Given the description of an element on the screen output the (x, y) to click on. 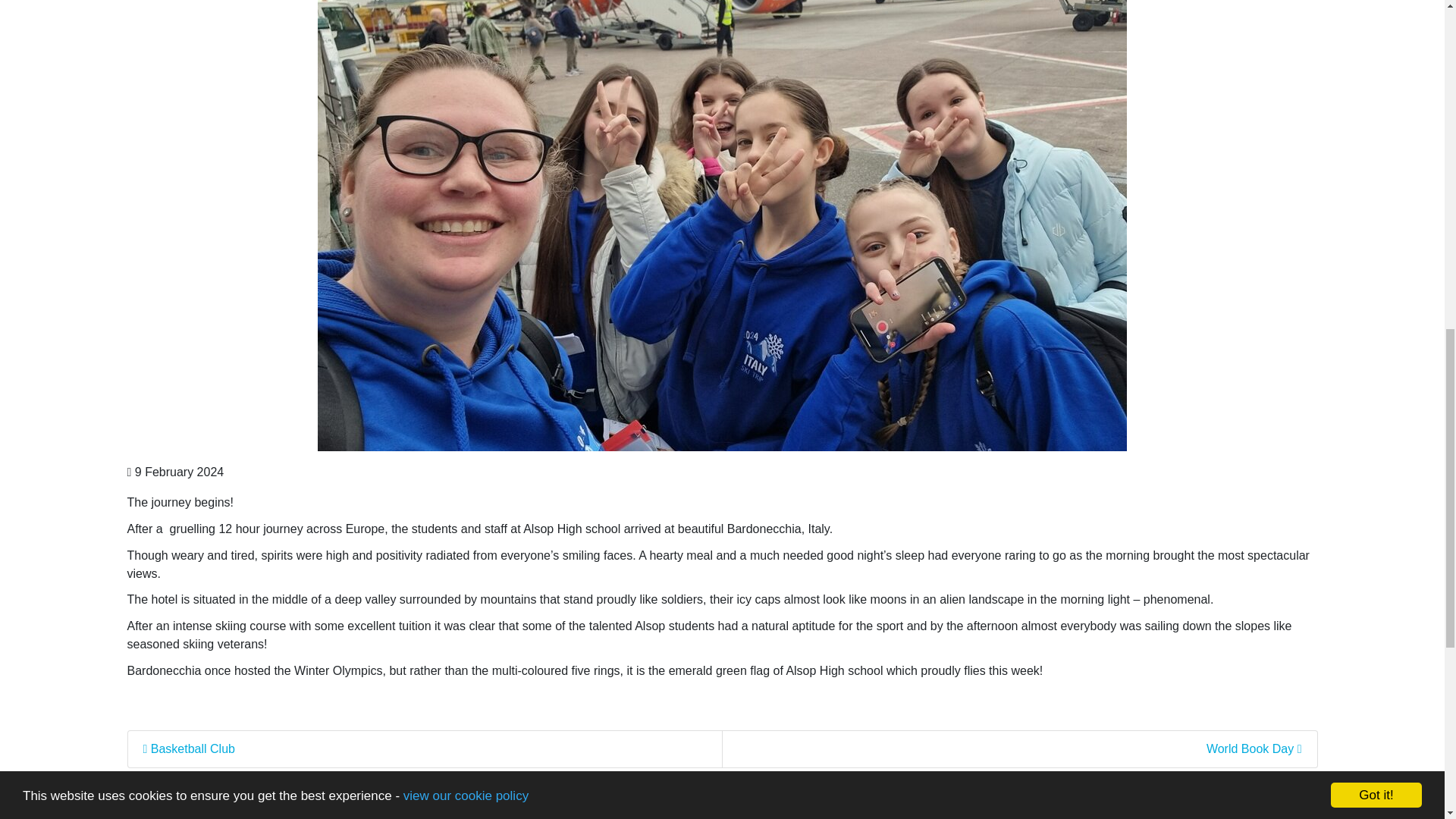
Share on Facebook (166, 811)
Post on X (256, 811)
